Given the description of an element on the screen output the (x, y) to click on. 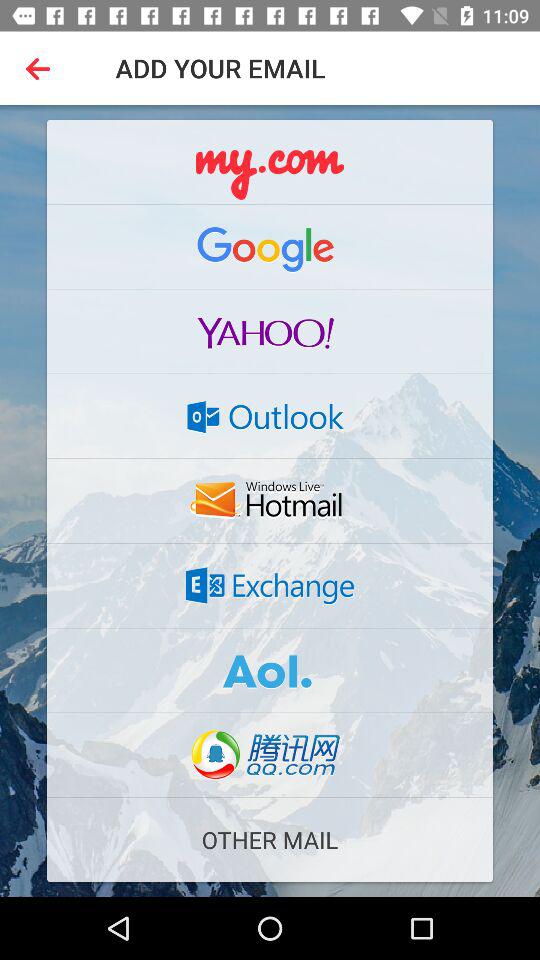
turn on other mail icon (269, 839)
